Given the description of an element on the screen output the (x, y) to click on. 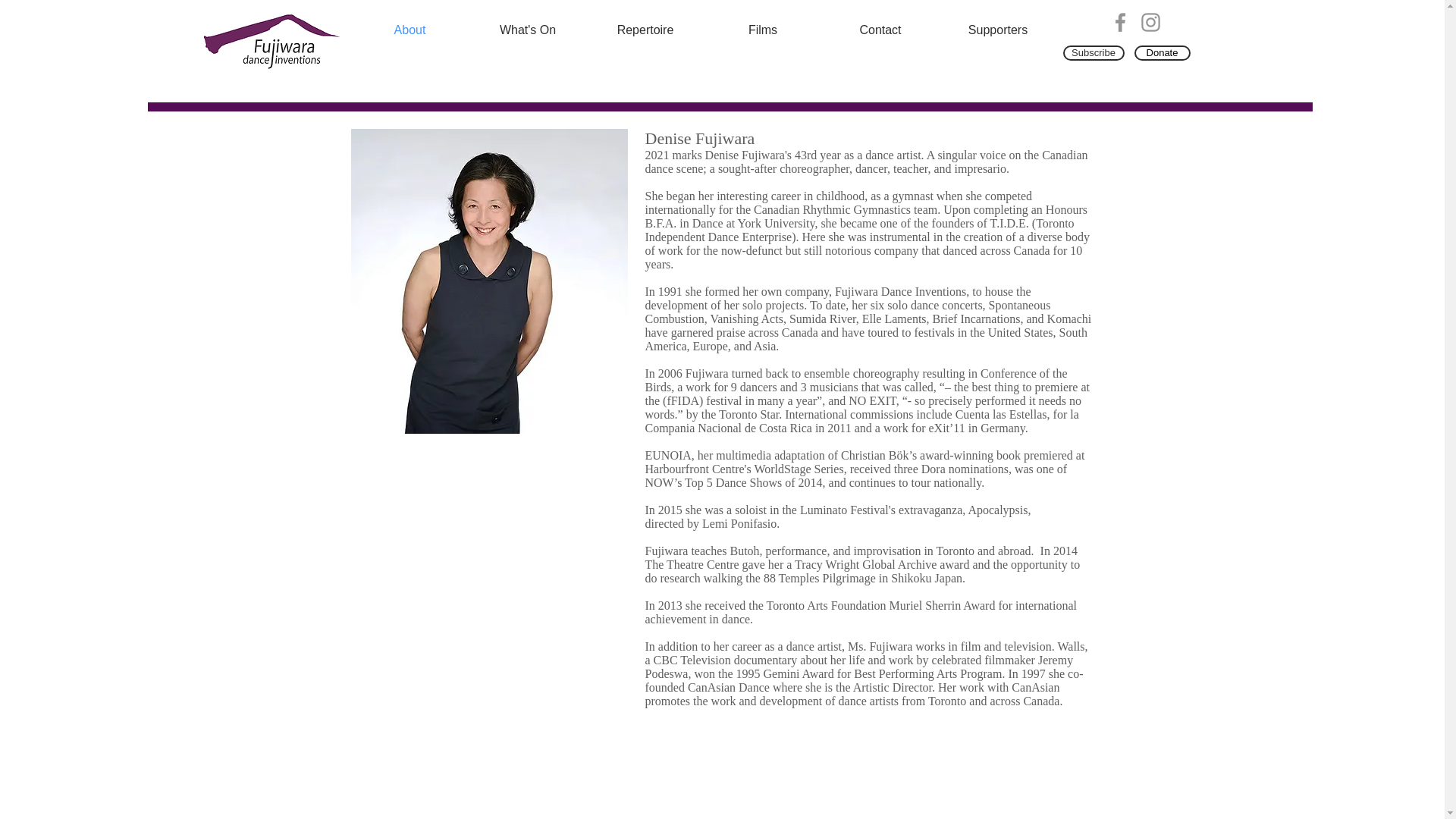
About (409, 30)
Donate (1162, 52)
Subscribe (1093, 52)
Supporters (998, 30)
Contact (880, 30)
Films (762, 30)
